Given the description of an element on the screen output the (x, y) to click on. 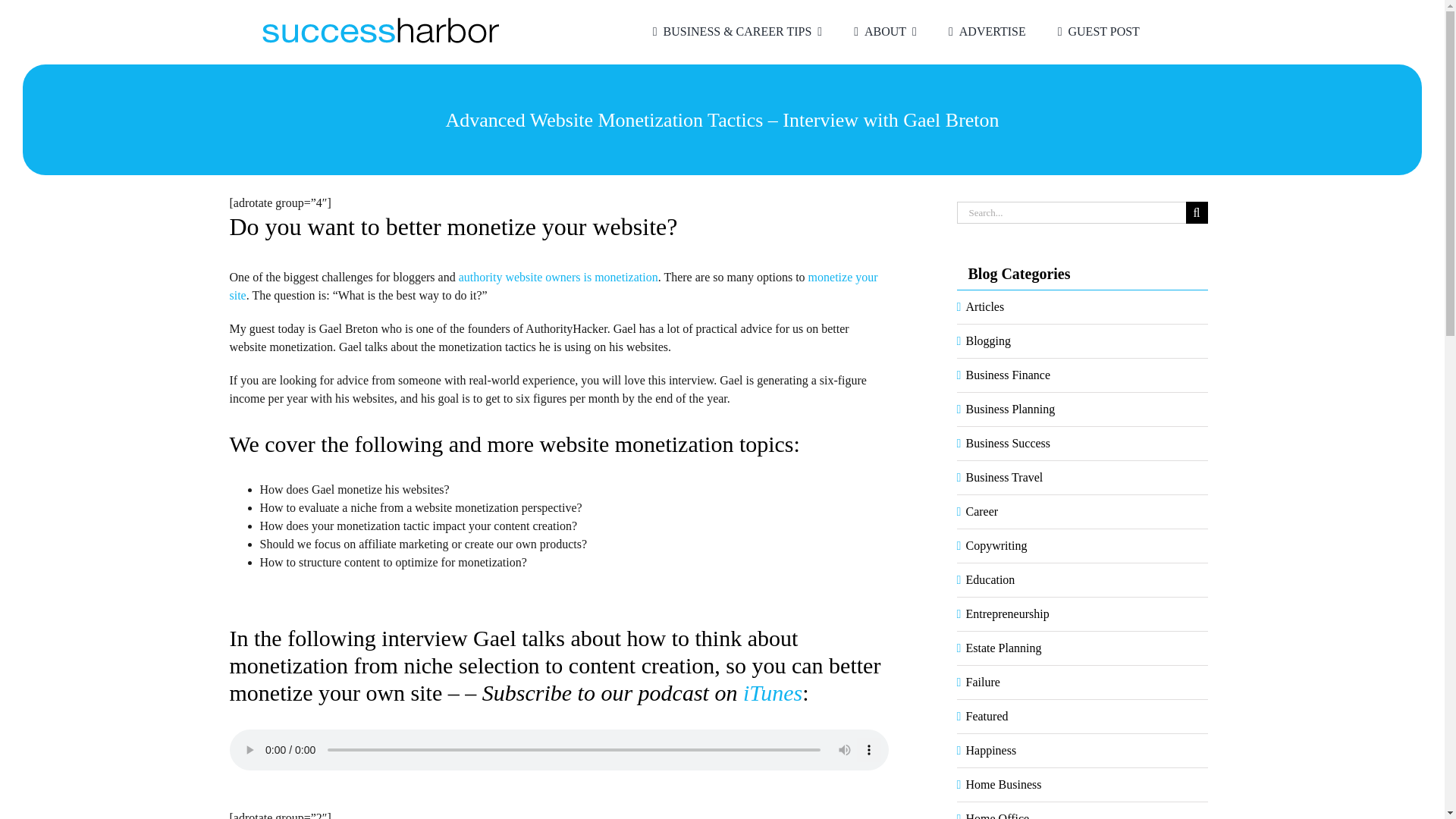
authority website owners is monetization (558, 277)
ABOUT (882, 31)
monetize your site (552, 286)
Articles (1082, 307)
ADVERTISE (984, 31)
Business Finance (1082, 375)
Blogging (1082, 341)
iTunes (772, 692)
GUEST POST (1095, 31)
